Given the description of an element on the screen output the (x, y) to click on. 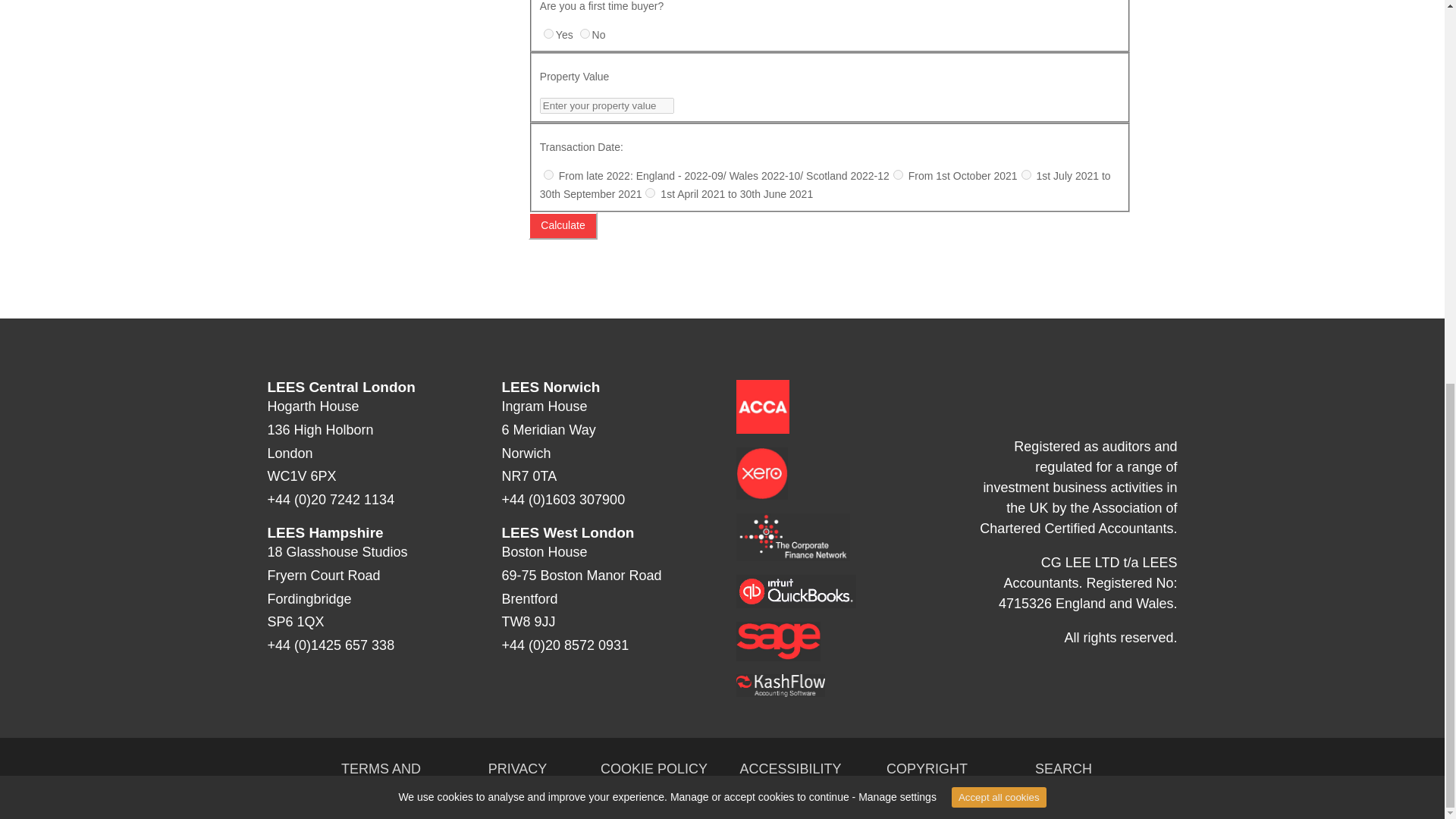
asset 12 (791, 537)
asset 15 (779, 685)
asset 11 (761, 473)
asset 16 (1070, 401)
asset 10 (762, 407)
asset 13 (795, 590)
asset 14 (778, 640)
